Given the description of an element on the screen output the (x, y) to click on. 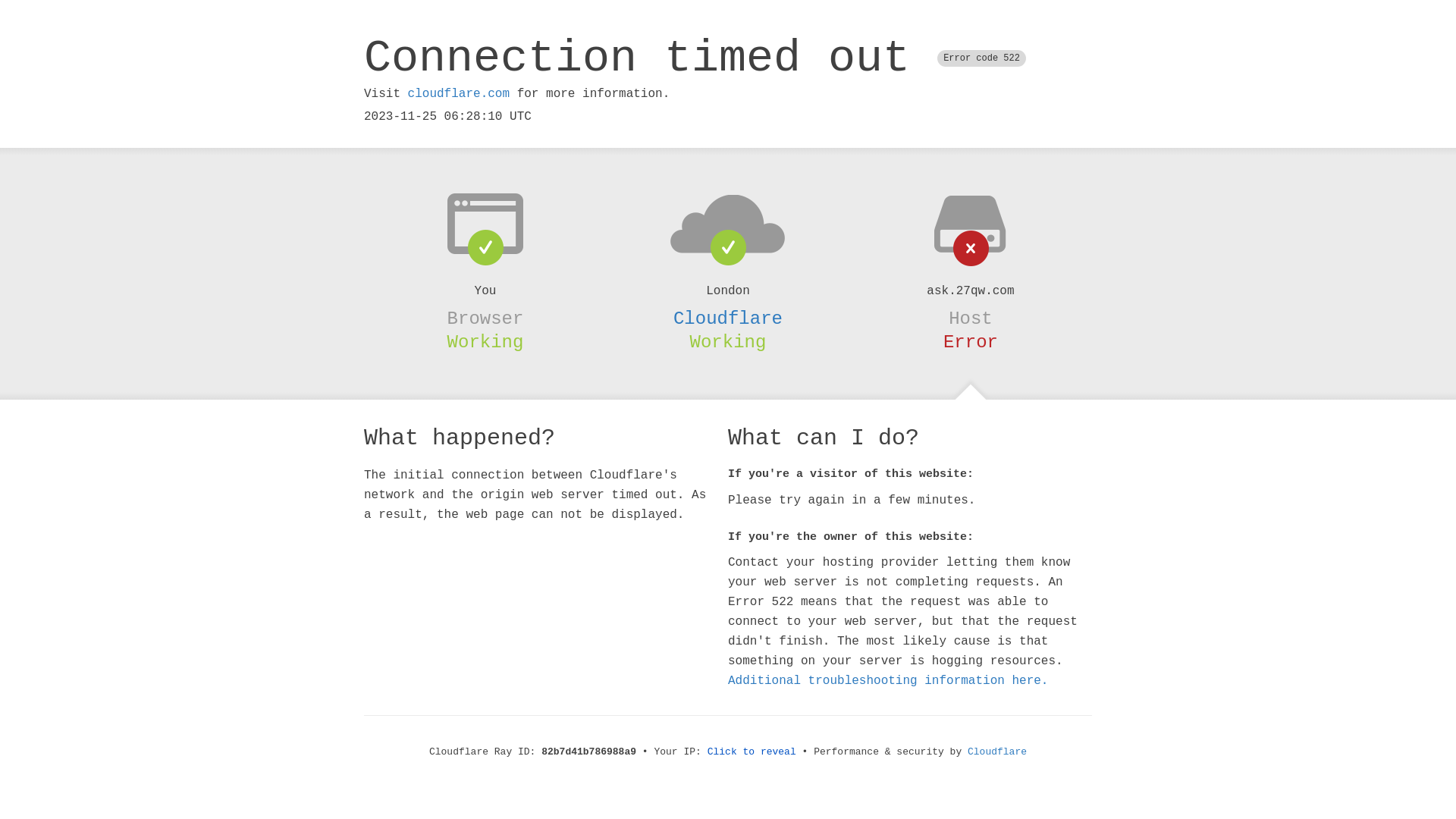
Cloudflare Element type: text (996, 751)
Additional troubleshooting information here. Element type: text (888, 680)
cloudflare.com Element type: text (458, 93)
Click to reveal Element type: text (751, 751)
Cloudflare Element type: text (727, 318)
